Given the description of an element on the screen output the (x, y) to click on. 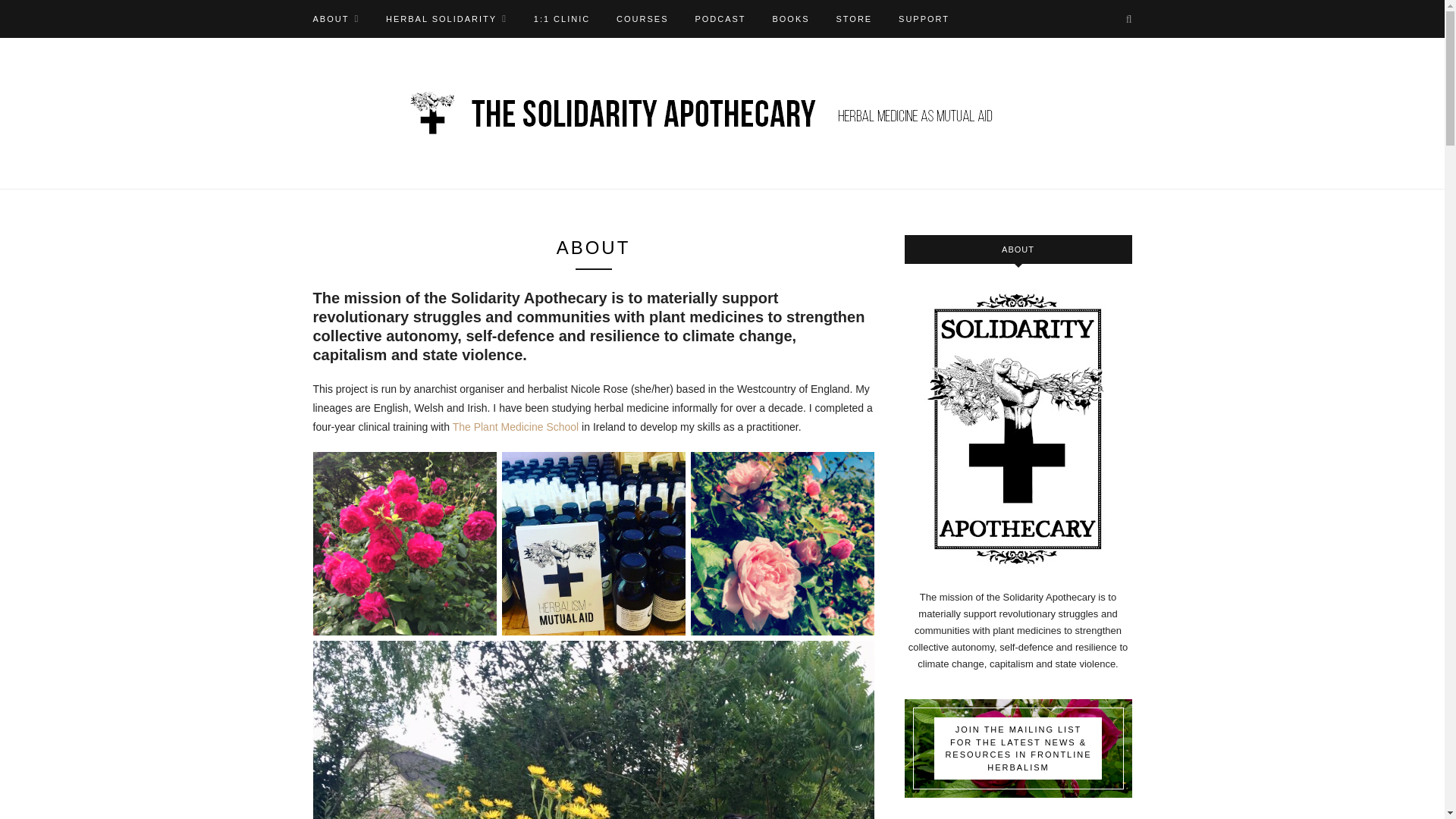
The Plant Medicine School (515, 426)
ABOUT (336, 18)
1:1 CLINIC (561, 18)
HERBAL SOLIDARITY (445, 18)
STORE (853, 18)
COURSES (641, 18)
BOOKS (790, 18)
PODCAST (719, 18)
SUPPORT (923, 18)
